Given the description of an element on the screen output the (x, y) to click on. 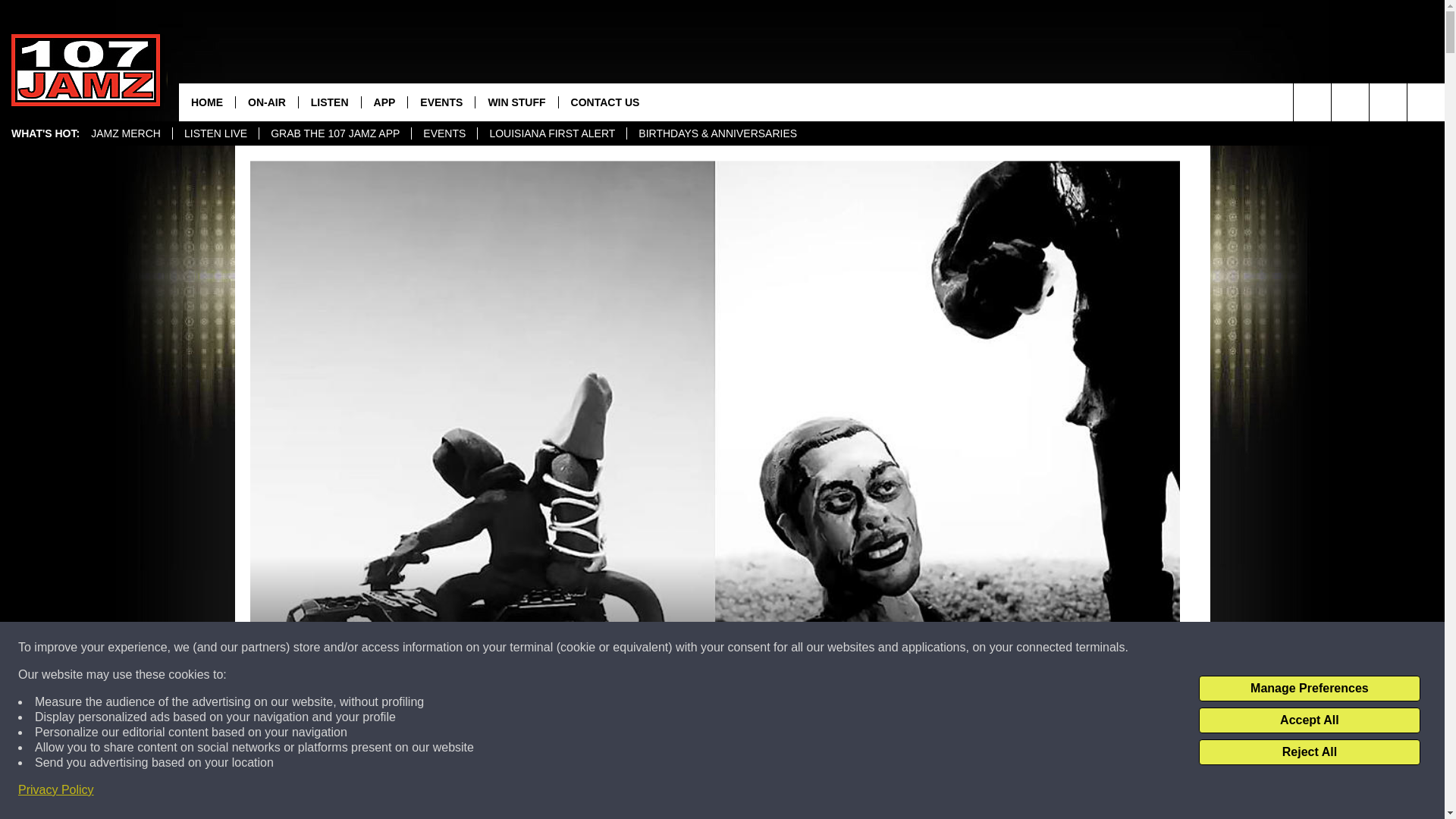
APP (384, 102)
JAMZ MERCH (125, 133)
Privacy Policy (55, 789)
Share on Twitter (912, 791)
LISTEN LIVE (215, 133)
Reject All (1309, 751)
Accept All (1309, 720)
Manage Preferences (1309, 688)
WIN STUFF (515, 102)
Share on Facebook (517, 791)
EVENTS (440, 102)
GRAB THE 107 JAMZ APP (334, 133)
LISTEN (329, 102)
LOUISIANA FIRST ALERT (551, 133)
ON-AIR (266, 102)
